Given the description of an element on the screen output the (x, y) to click on. 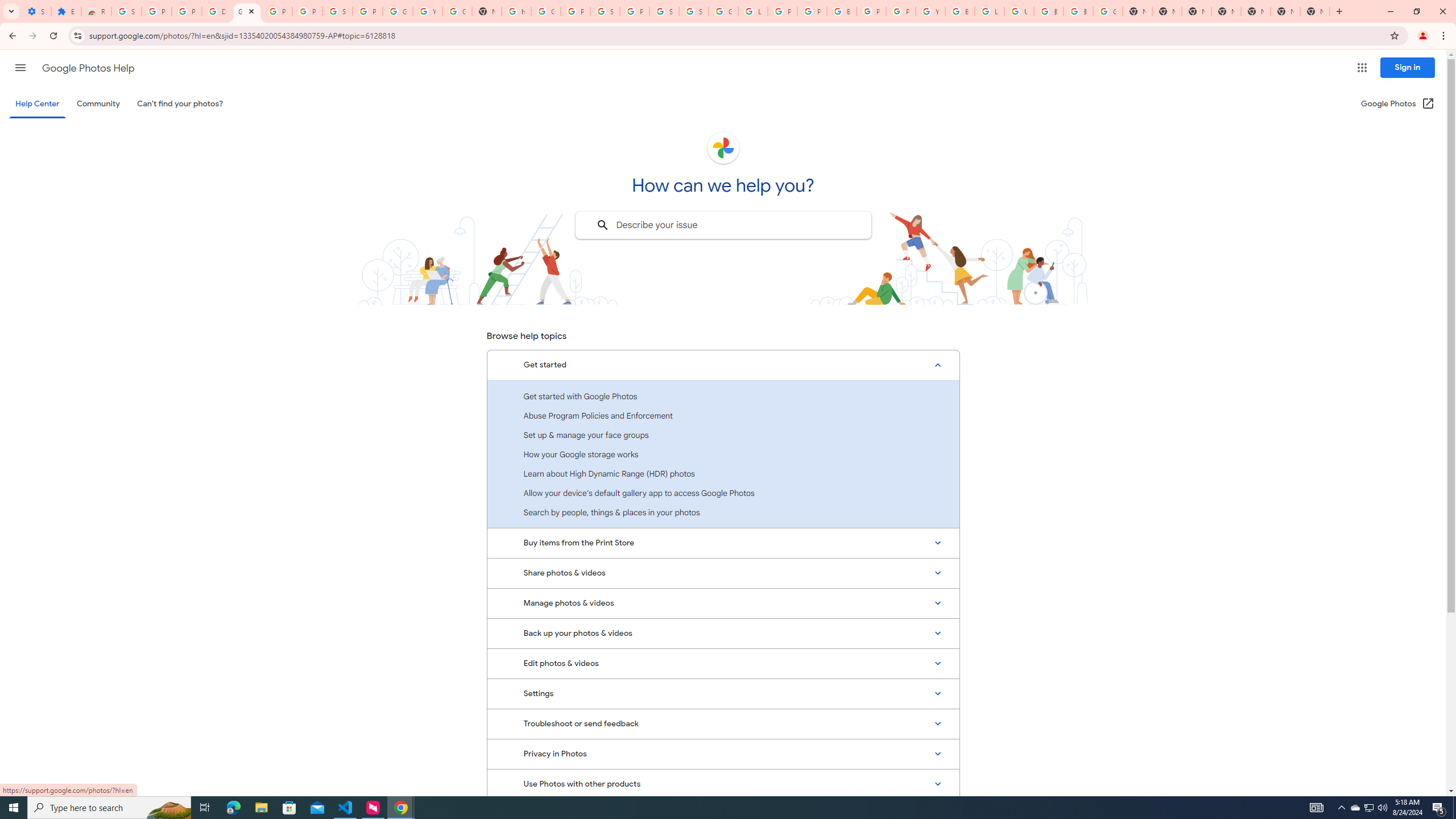
Manage photos & videos (722, 603)
Privacy in Photos (722, 754)
Search by people, things & places in your photos (722, 512)
Abuse Program Policies and Enforcement (722, 415)
How your Google storage works (722, 454)
Community (97, 103)
YouTube (930, 11)
